Given the description of an element on the screen output the (x, y) to click on. 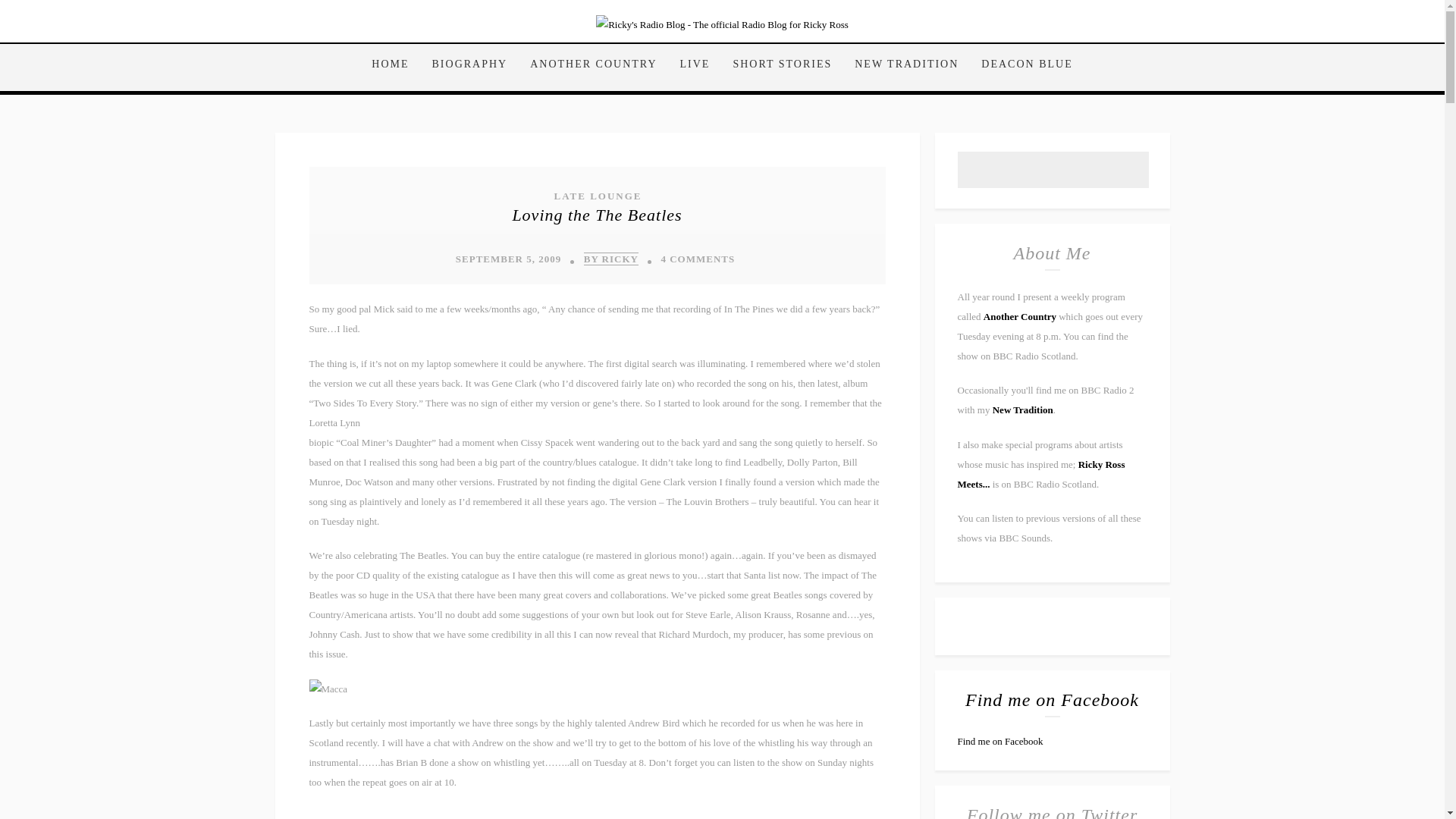
DEACON BLUE (1020, 65)
ANOTHER COUNTRY (593, 65)
NEW TRADITION (906, 65)
SHORT STORIES (781, 65)
Macca (327, 689)
LATE LOUNGE (596, 196)
LIVE (695, 65)
SEPTEMBER 5, 2009 (507, 258)
BIOGRAPHY (469, 65)
Loving the The Beatles (596, 214)
